Given the description of an element on the screen output the (x, y) to click on. 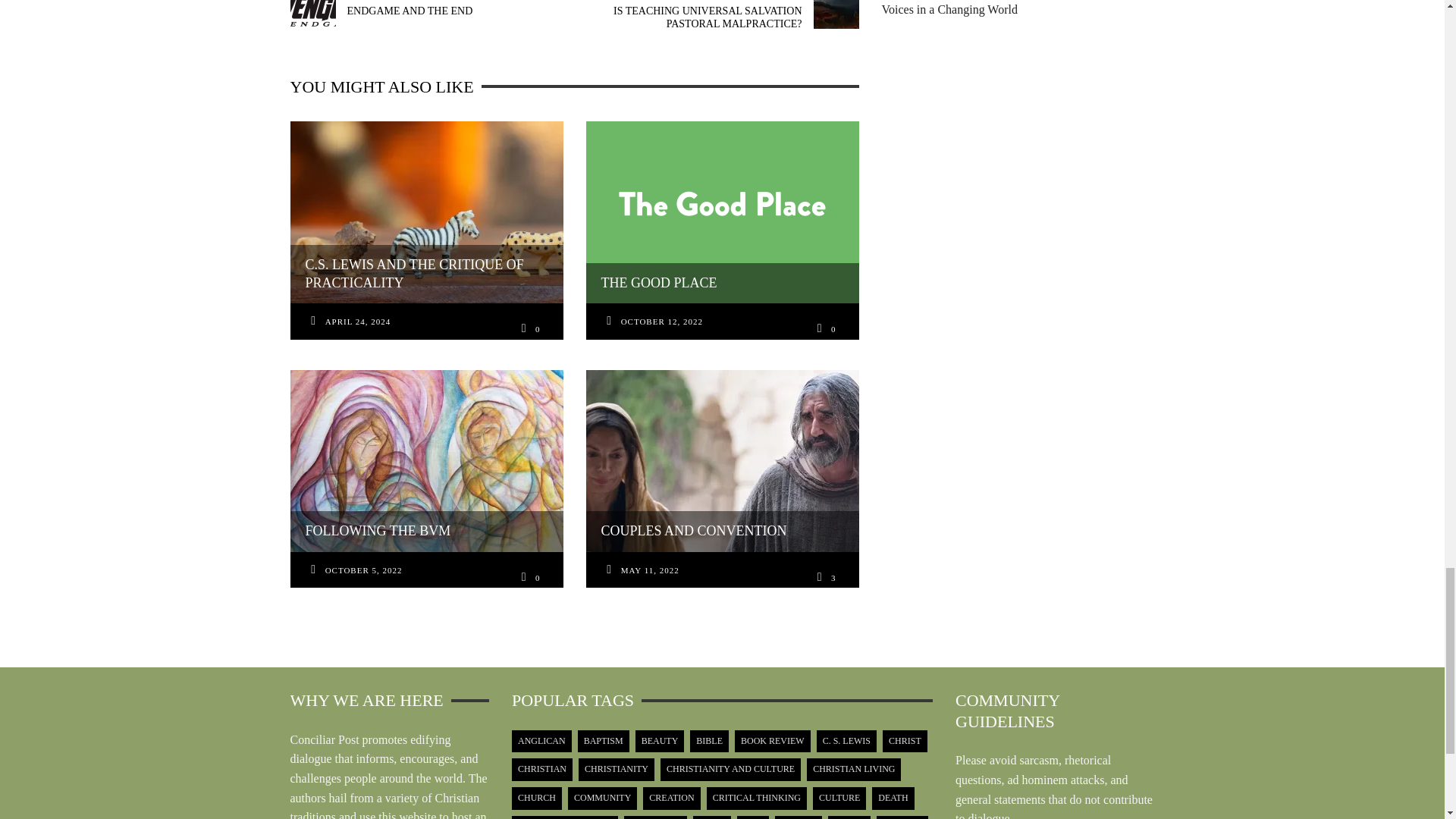
Permalink to C.S. Lewis and the Critique of Practicality (357, 322)
Permalink to Couples and Convention (650, 570)
Permalink to Following the BVM (363, 570)
Permalink to The Good Place (662, 322)
